Given the description of an element on the screen output the (x, y) to click on. 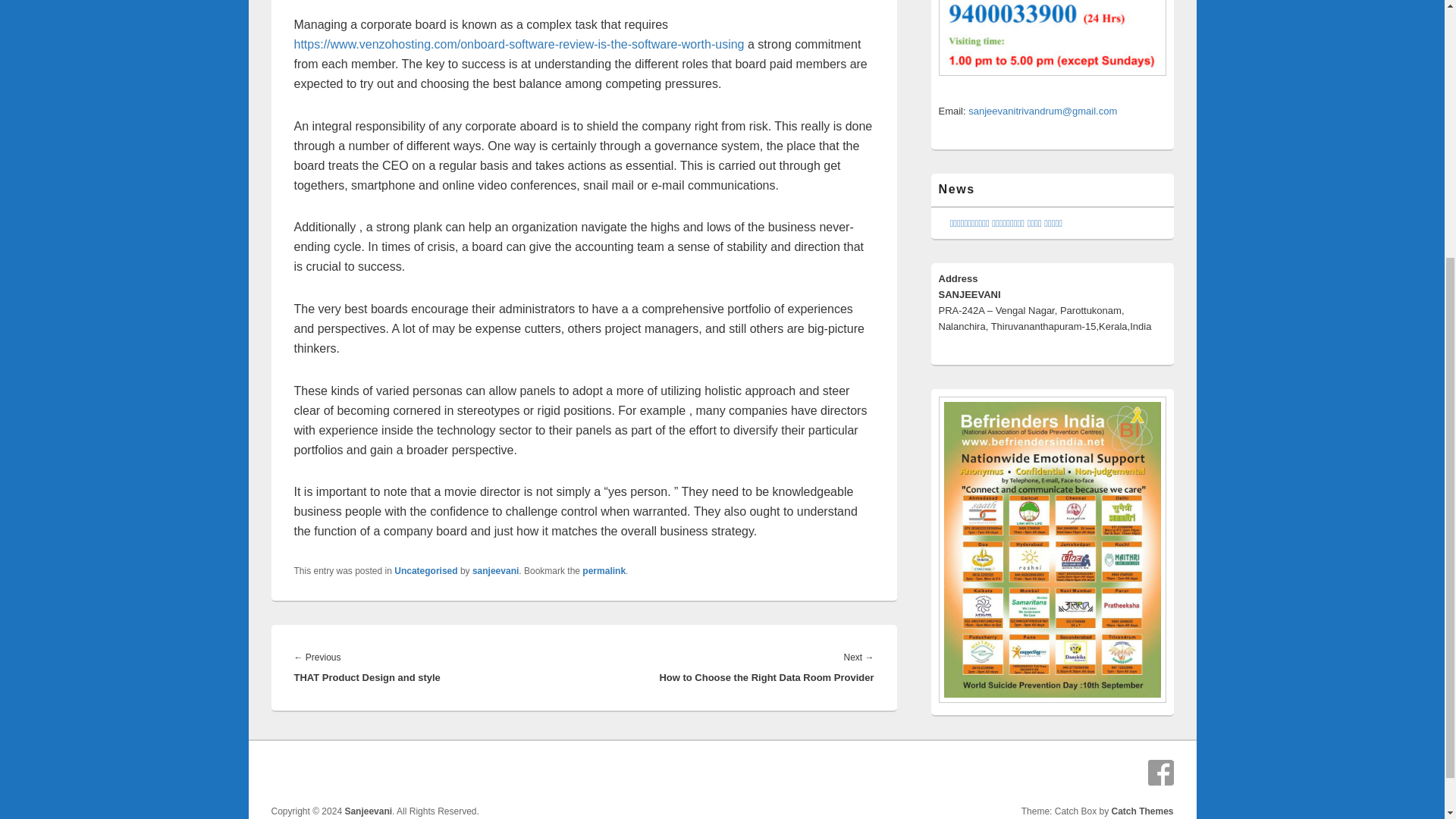
Permalink to Owning a Corporate Table (604, 570)
permalink (604, 570)
Catch Themes (1141, 810)
Catch Themes (1141, 810)
sanjeevani (494, 570)
Uncategorised (425, 570)
Sanjeevani (367, 810)
Sanjeevani (367, 810)
